Given the description of an element on the screen output the (x, y) to click on. 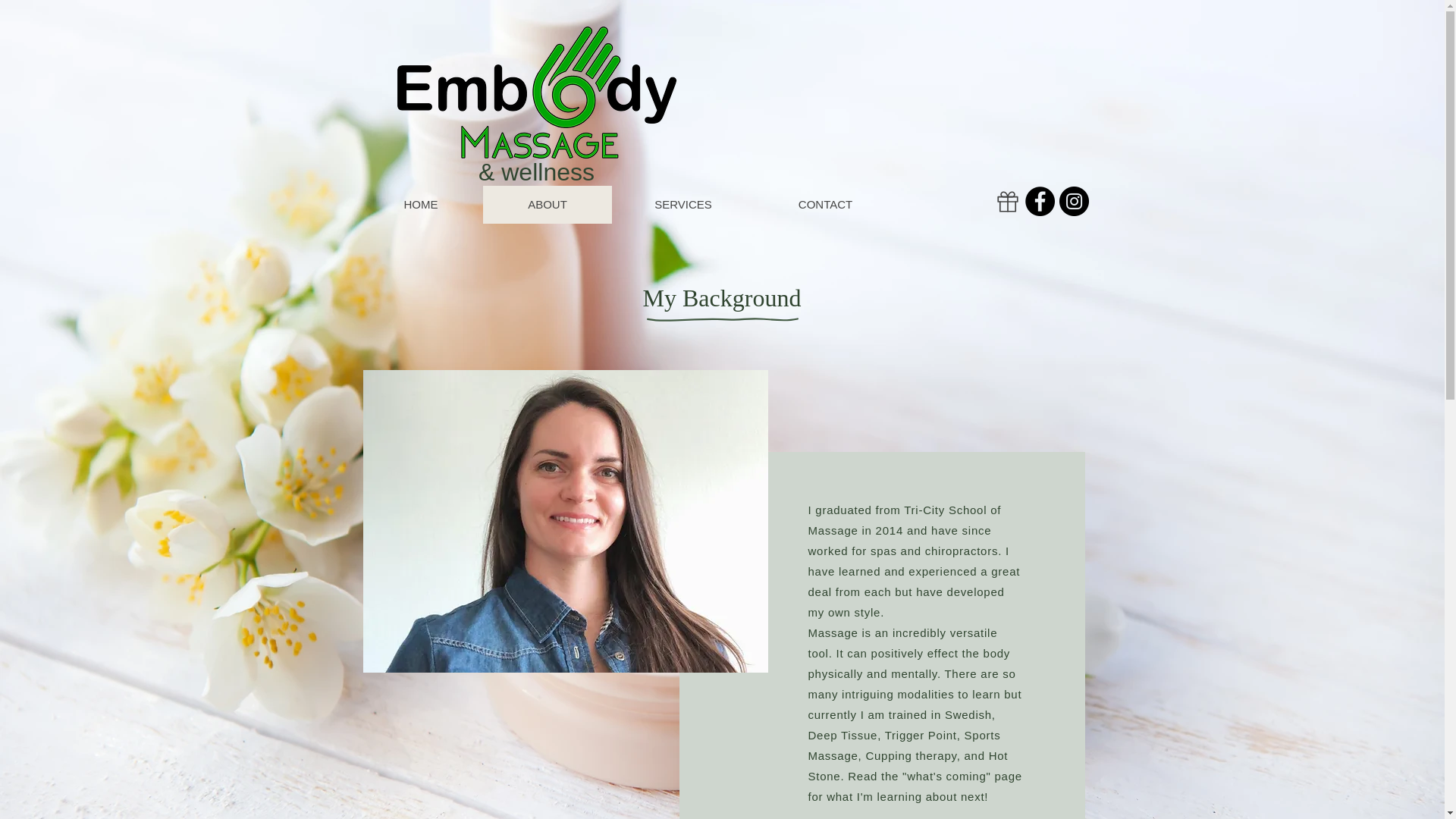
SERVICES (682, 204)
ABOUT (546, 204)
HOME (421, 204)
CONTACT (824, 204)
